Given the description of an element on the screen output the (x, y) to click on. 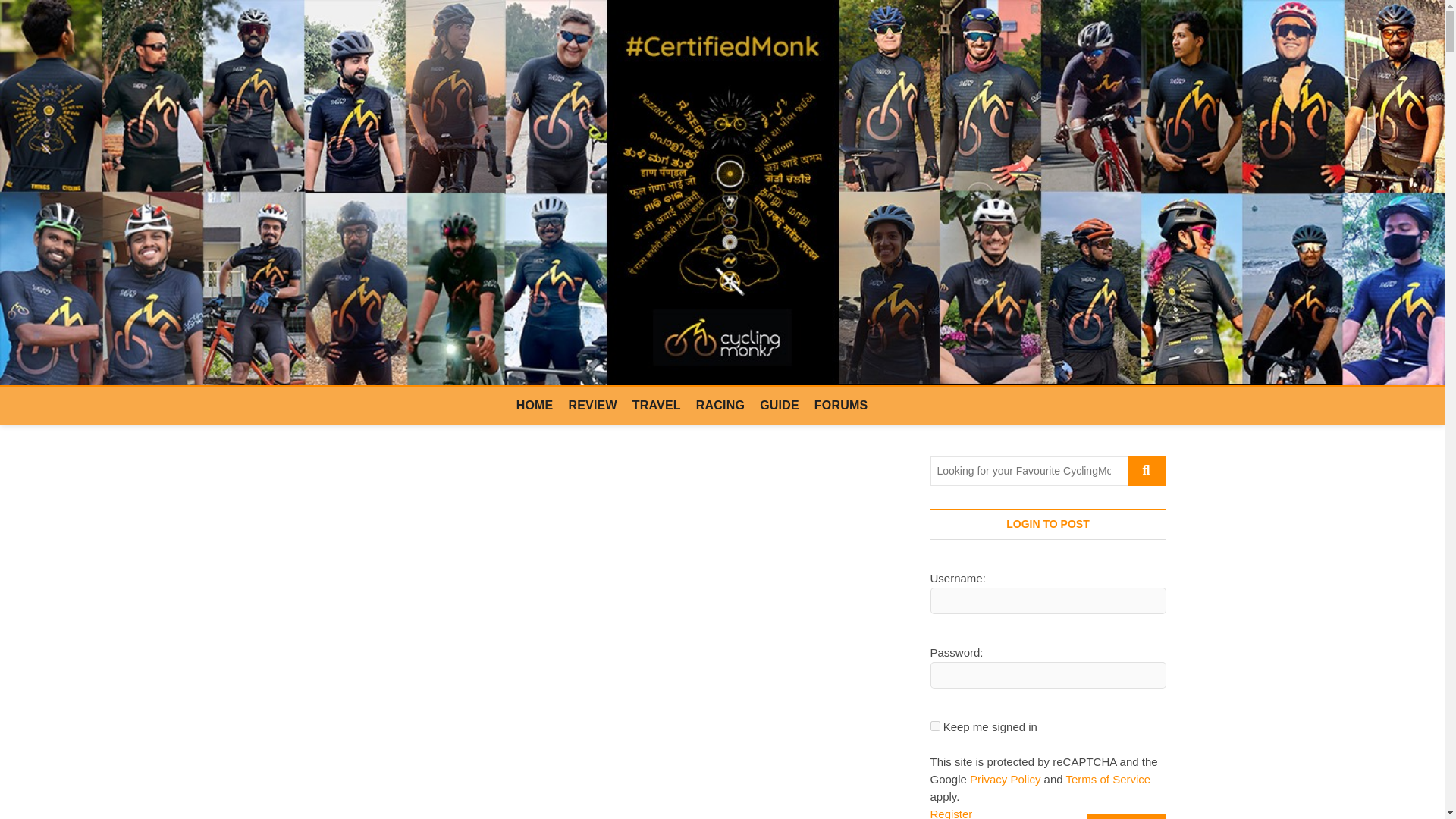
ENDURANCE (308, 818)
HOME (534, 405)
REVIEW (592, 405)
FORUMS (841, 405)
Register (951, 812)
forever (934, 726)
RACING (720, 405)
TRAVEL (656, 405)
GUIDE (779, 405)
